Given the description of an element on the screen output the (x, y) to click on. 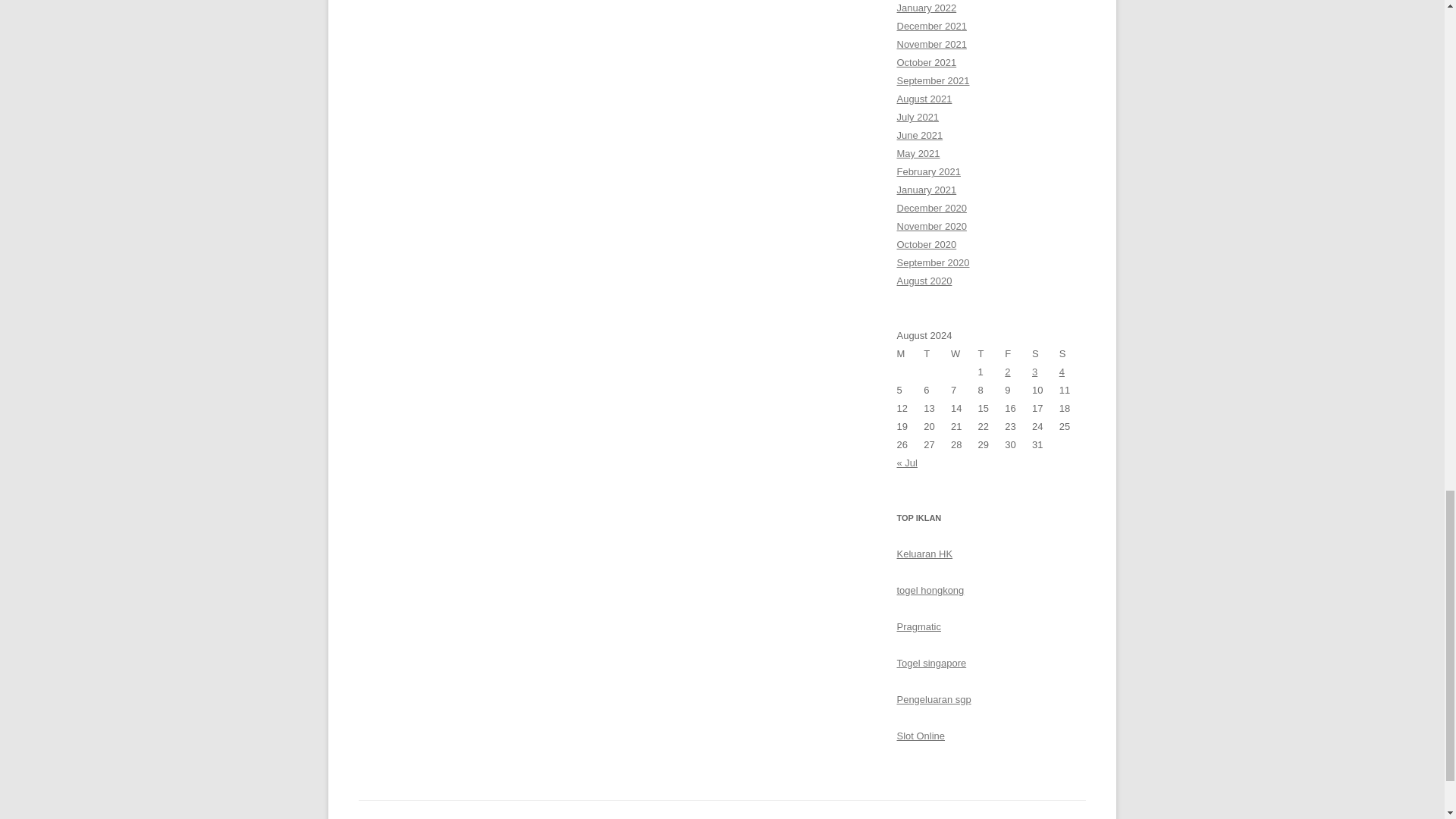
Wednesday (964, 353)
Friday (1018, 353)
Sunday (1072, 353)
Tuesday (936, 353)
Thursday (992, 353)
Monday (909, 353)
Saturday (1045, 353)
